Given the description of an element on the screen output the (x, y) to click on. 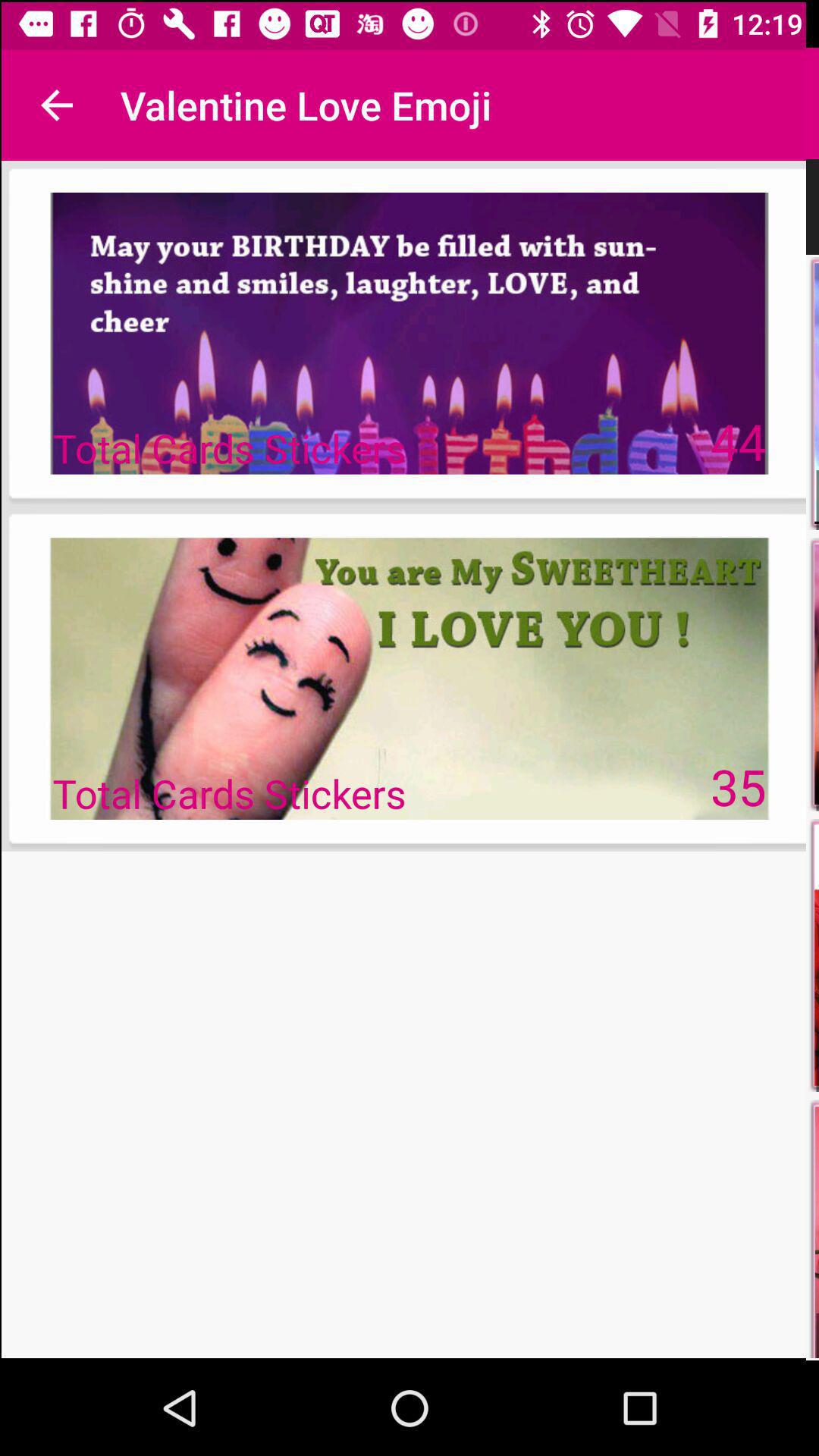
turn off the 44 icon (739, 440)
